Given the description of an element on the screen output the (x, y) to click on. 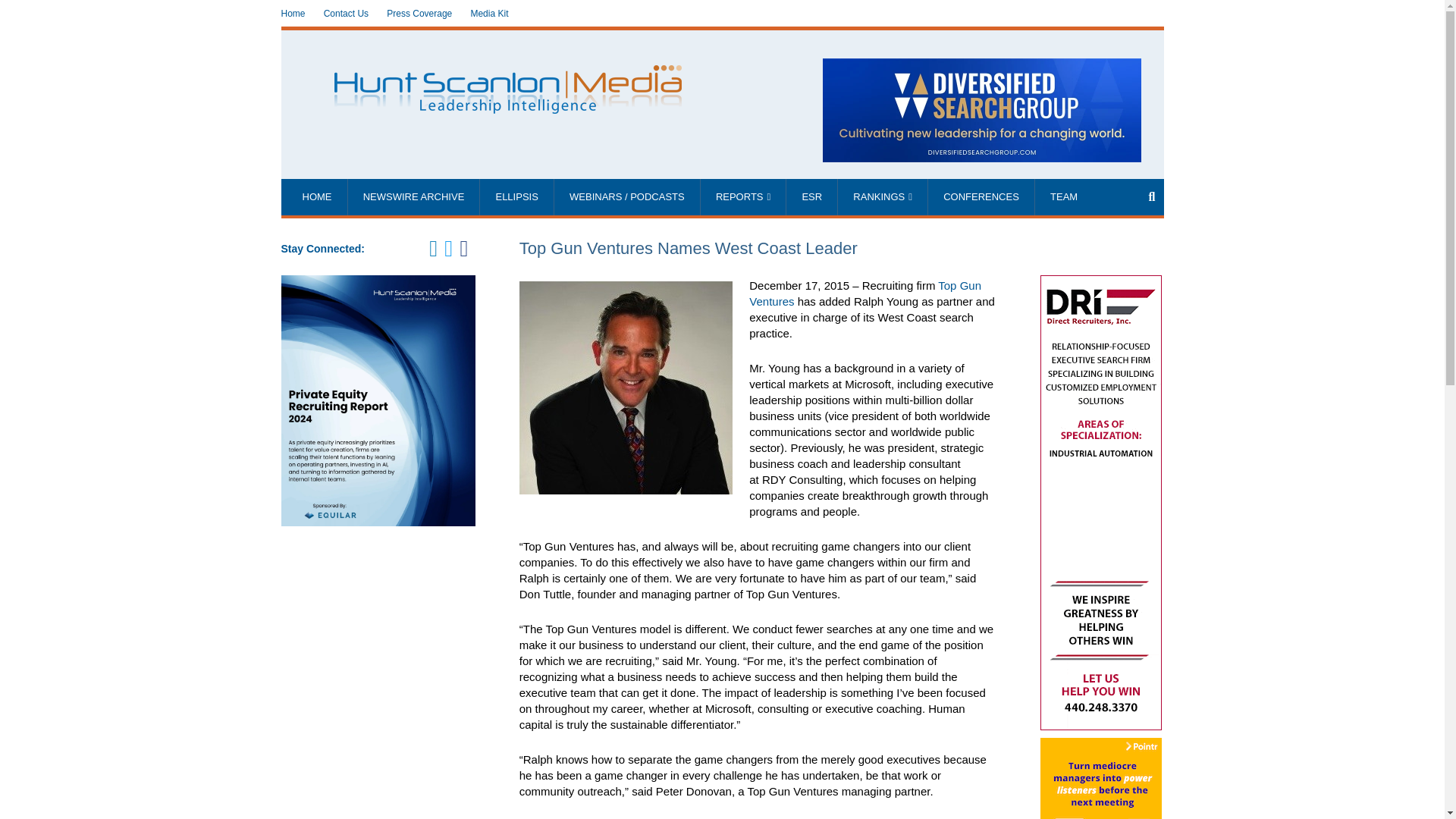
NEWSWIRE ARCHIVE (413, 197)
Webinars and podcasts on talent and recruiting trends (627, 197)
Press Coverage (419, 13)
HOME (316, 197)
Home (292, 13)
ELLIPSIS (516, 197)
Media Kit (489, 13)
Contact Us (345, 13)
REPORTS (743, 197)
